Given the description of an element on the screen output the (x, y) to click on. 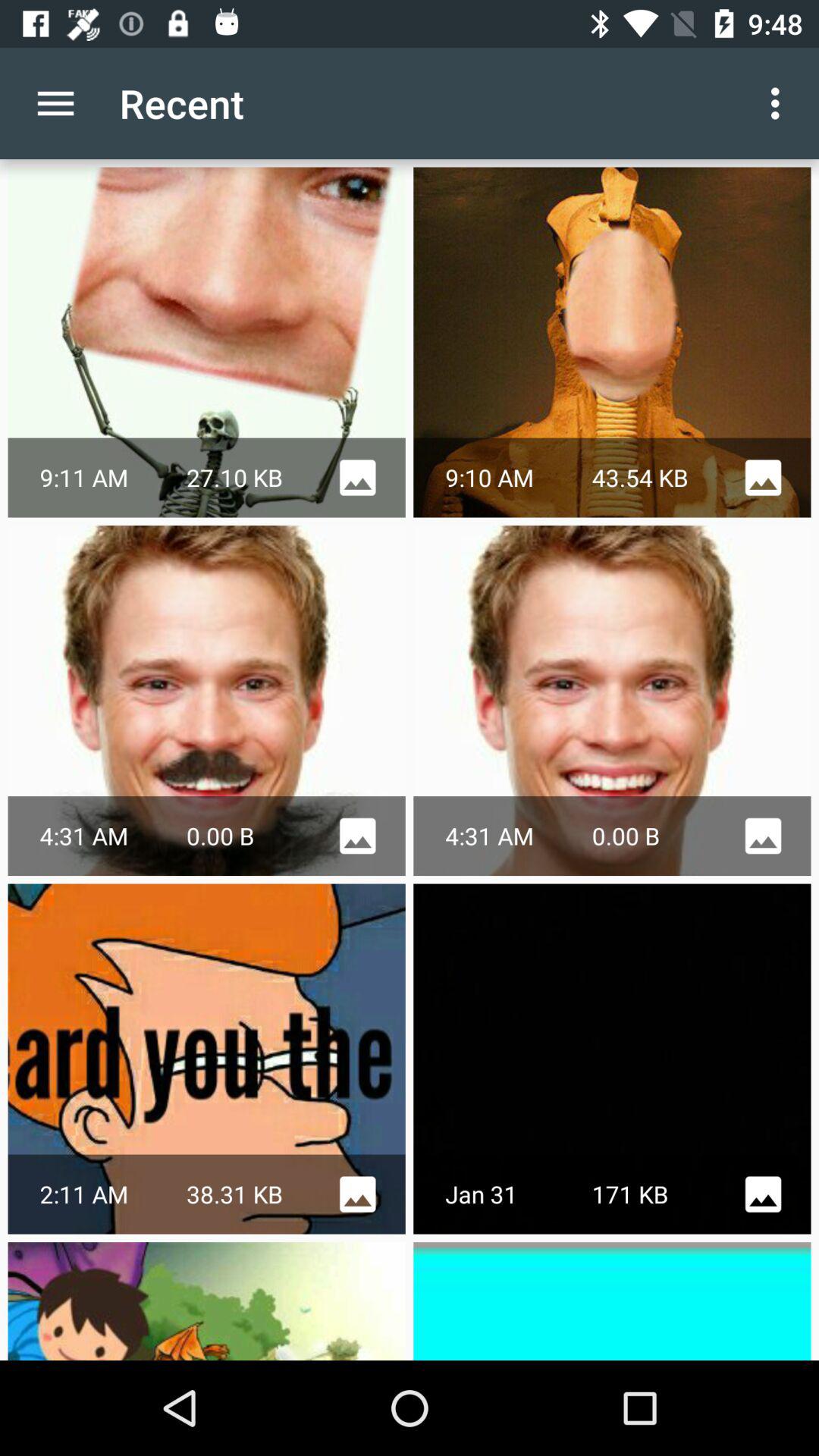
press icon to the right of the recent item (779, 103)
